Given the description of an element on the screen output the (x, y) to click on. 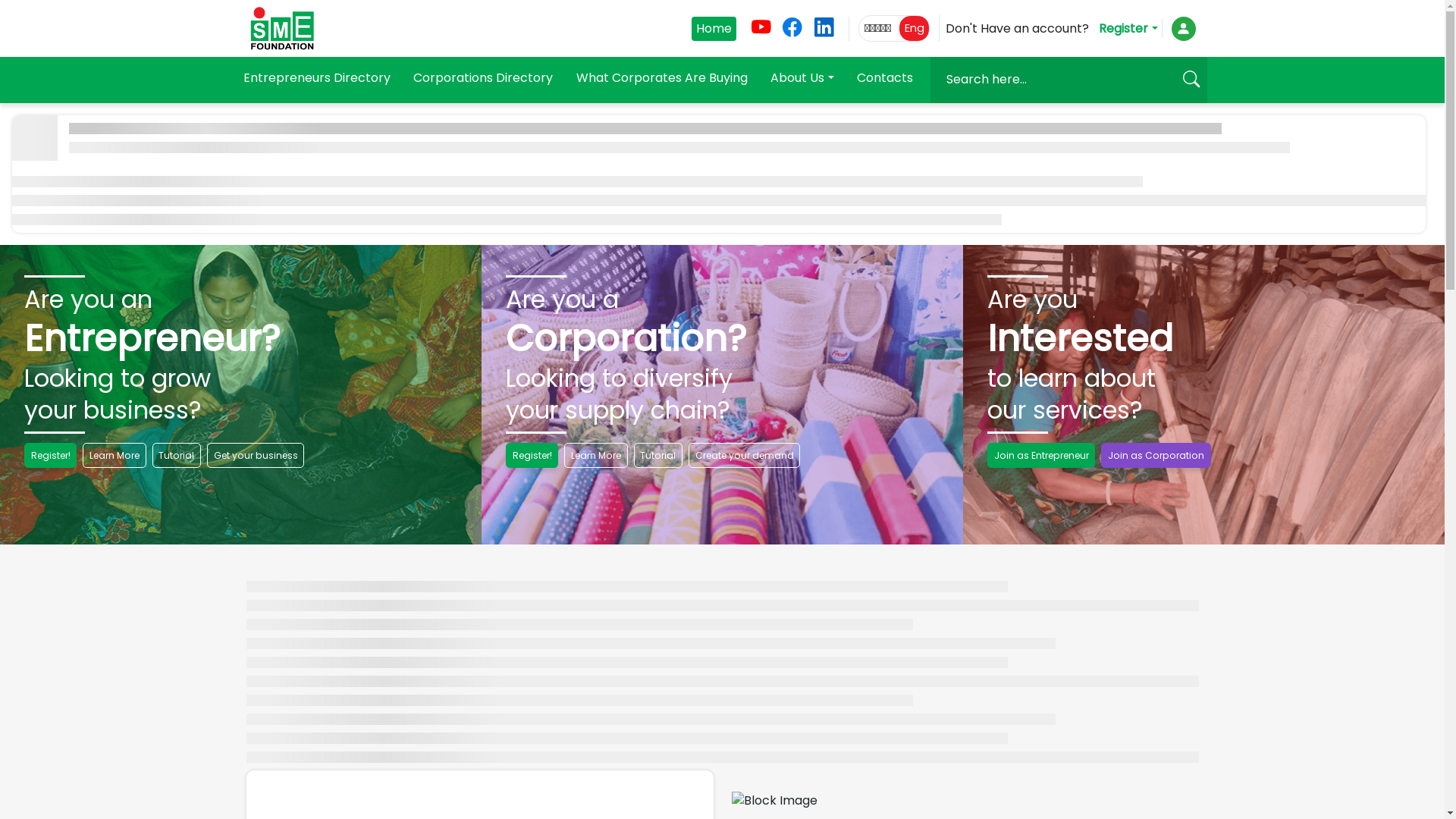
Tutorial Element type: text (176, 454)
Register! Element type: text (50, 454)
Entrepreneurs Directory
(current) Element type: text (315, 78)
Join as Corporation Element type: text (1155, 454)
Contacts
(current) Element type: text (884, 78)
Register Element type: text (1128, 28)
Home Element type: text (713, 28)
Learn More Element type: text (595, 454)
Register! Element type: text (531, 454)
About Us Element type: text (801, 78)
What Corporates Are Buying
(current) Element type: text (661, 78)
Join as Entrepreneur Element type: text (1041, 454)
Create your demand Element type: text (744, 454)
Tutorial Element type: text (657, 454)
Learn More Element type: text (113, 454)
Get your business Element type: text (255, 454)
Corporations Directory
(current) Element type: text (482, 78)
